Given the description of an element on the screen output the (x, y) to click on. 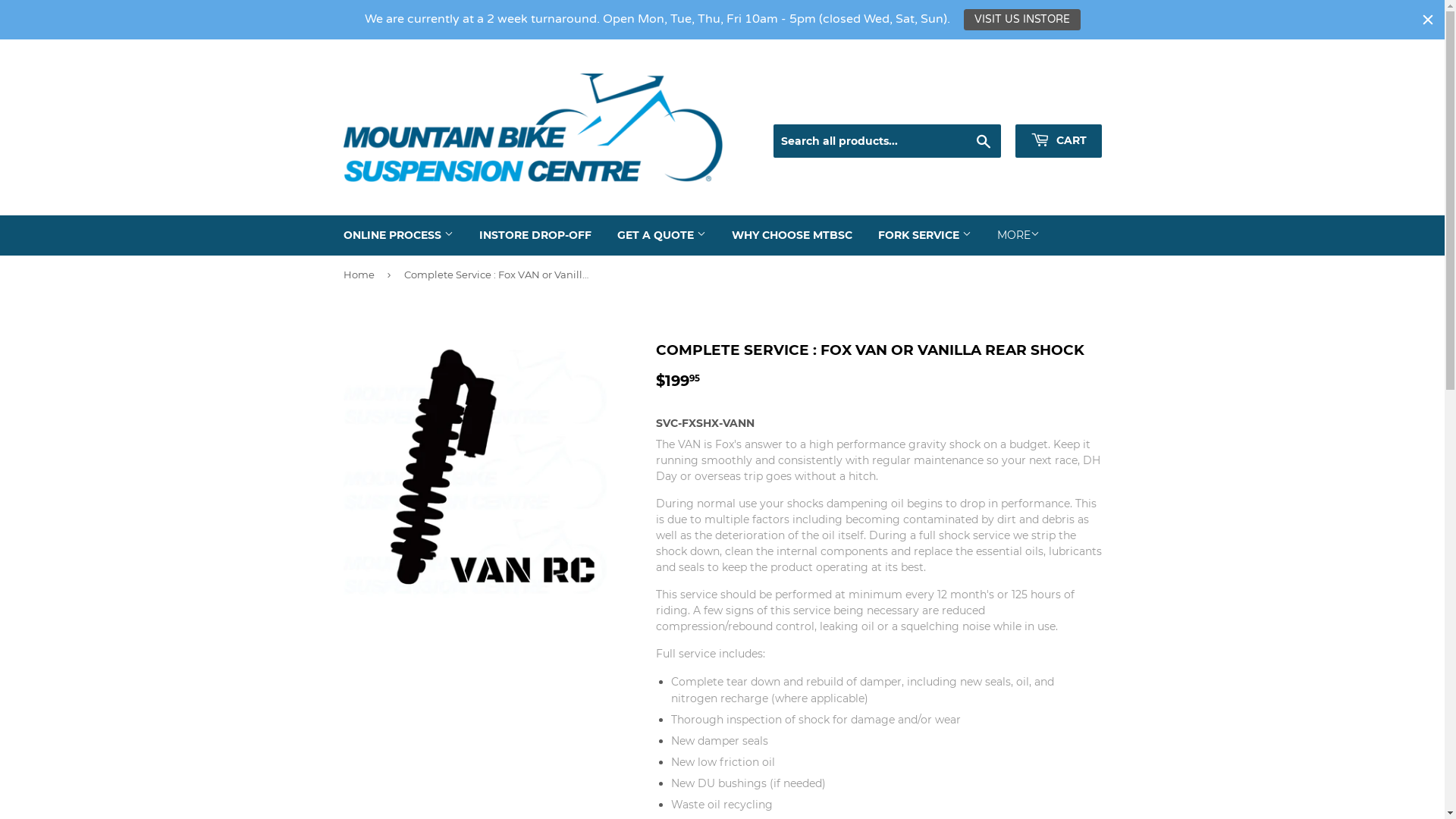
ONLINE PROCESS Element type: text (398, 234)
FORK SERVICE Element type: text (924, 234)
Search Element type: text (983, 141)
WHY CHOOSE MTBSC Element type: text (791, 234)
GET A QUOTE Element type: text (660, 234)
Sign in Element type: text (976, 105)
Home Element type: text (360, 274)
Create an Account Element type: text (1057, 105)
MORE Element type: text (1018, 234)
CART Element type: text (1057, 140)
VISIT US INSTORE Element type: text (1021, 19)
INSTORE DROP-OFF Element type: text (534, 234)
